Given the description of an element on the screen output the (x, y) to click on. 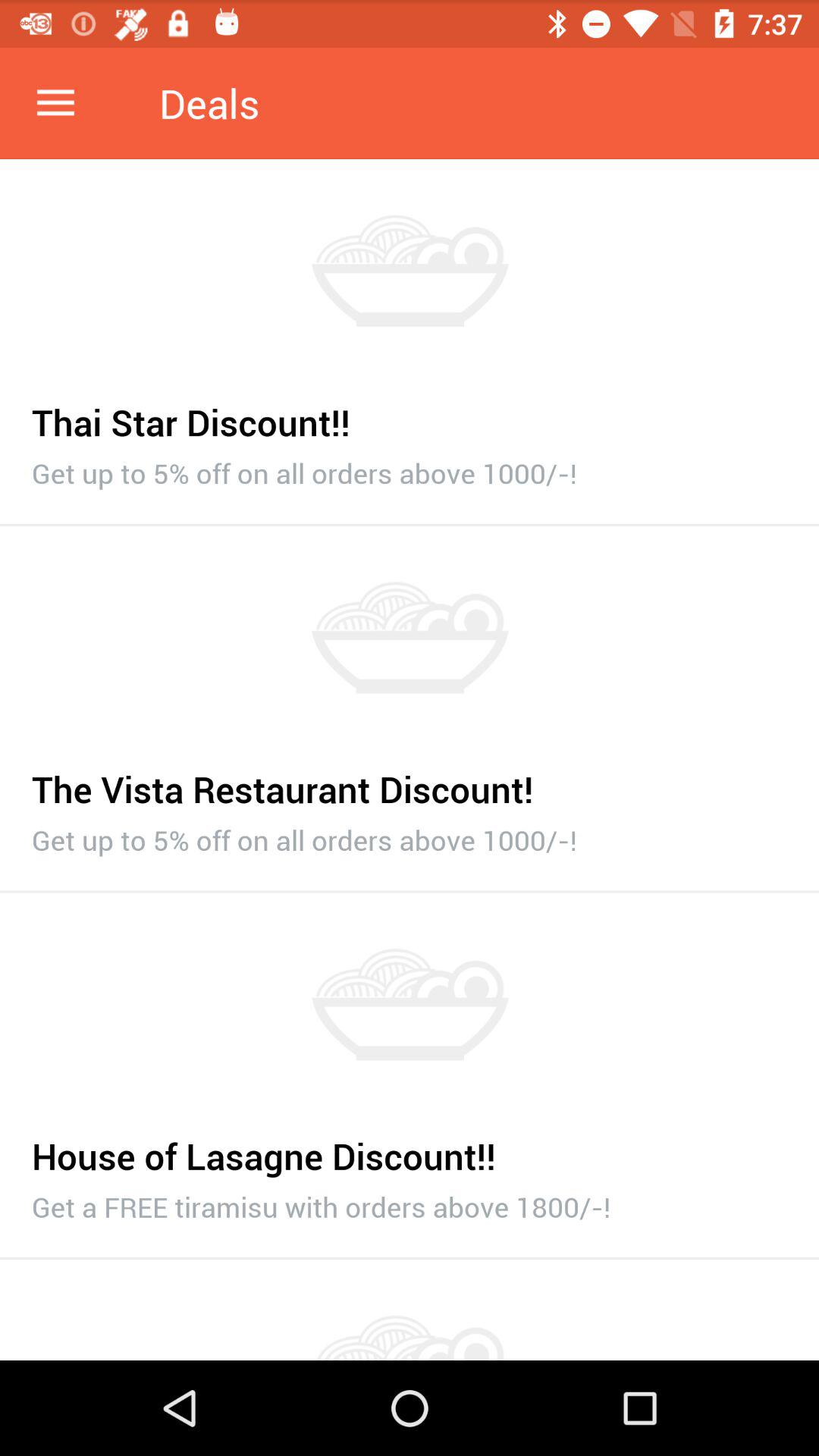
tap item above get up to item (409, 781)
